Given the description of an element on the screen output the (x, y) to click on. 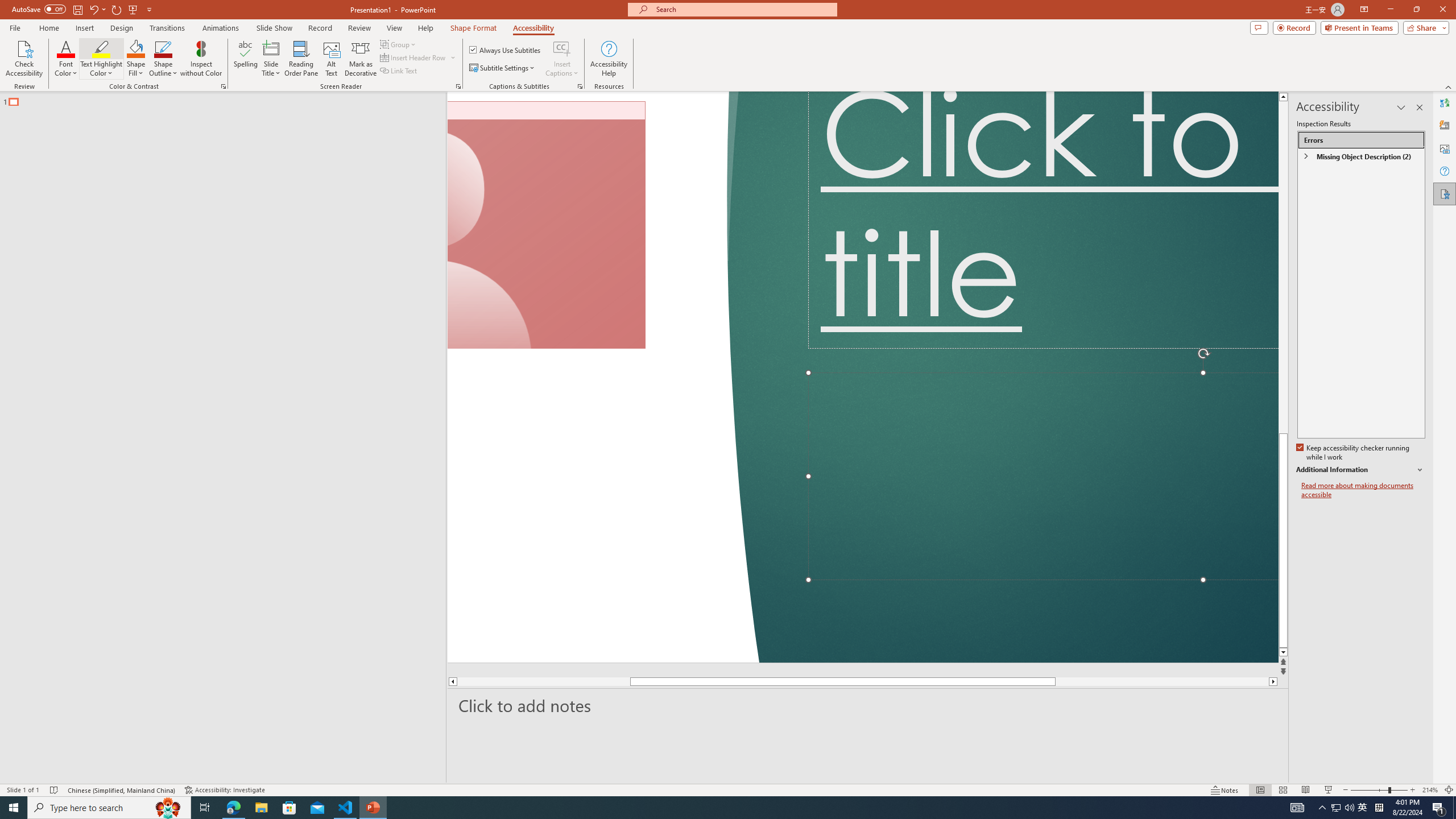
Captions & Subtitles (580, 85)
Zoom 214% (1430, 790)
Screen Reader (458, 85)
Camera 7, No camera detected. (546, 224)
